Given the description of an element on the screen output the (x, y) to click on. 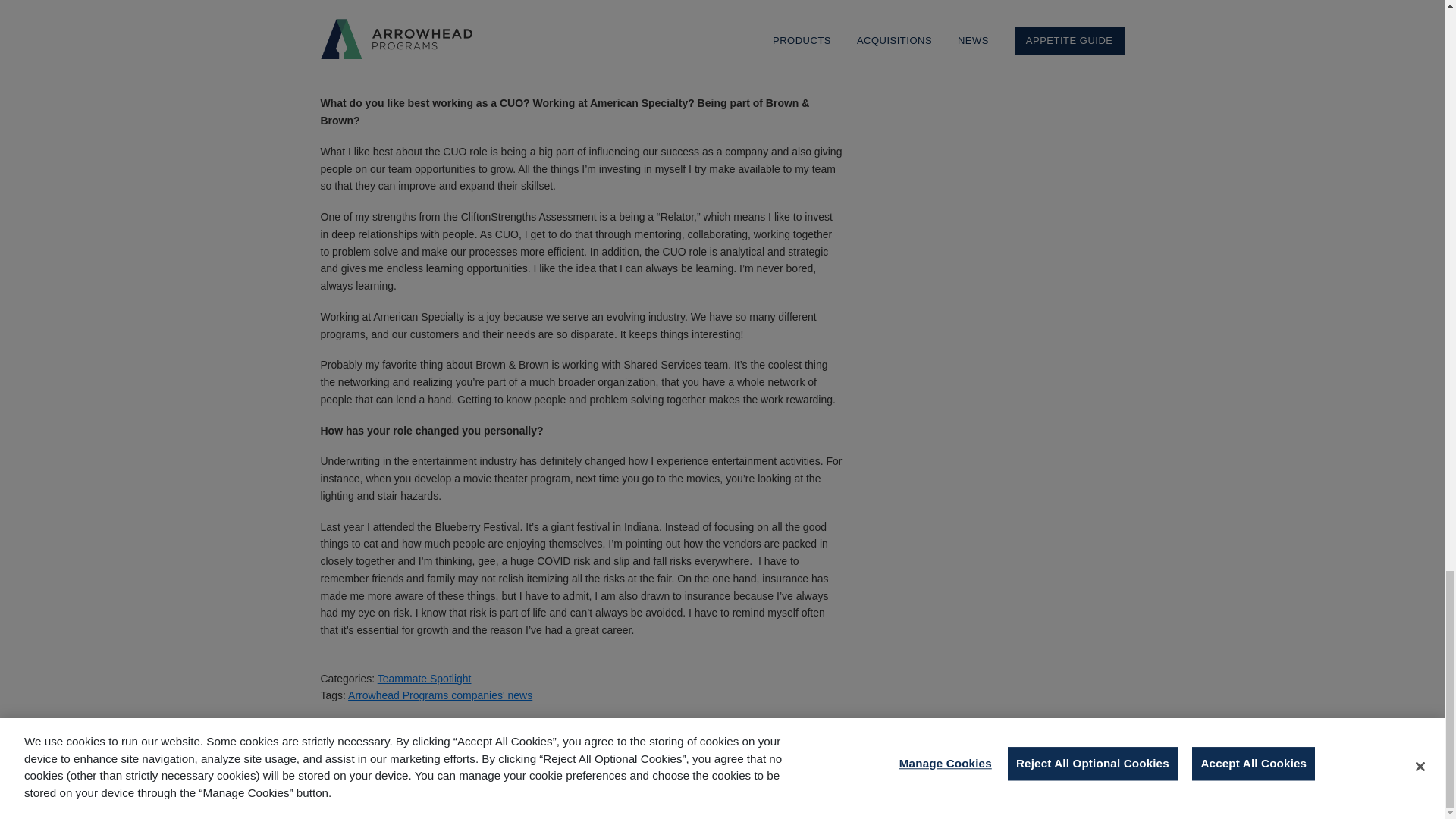
CCPA Privacy Notice (772, 788)
Legal Notices (611, 788)
Arrowhead Programs companies' news (439, 695)
Download Press Kit (941, 788)
Manage Cookies (858, 789)
Teammate Spotlight (424, 678)
Privacy Statement (685, 788)
